Given the description of an element on the screen output the (x, y) to click on. 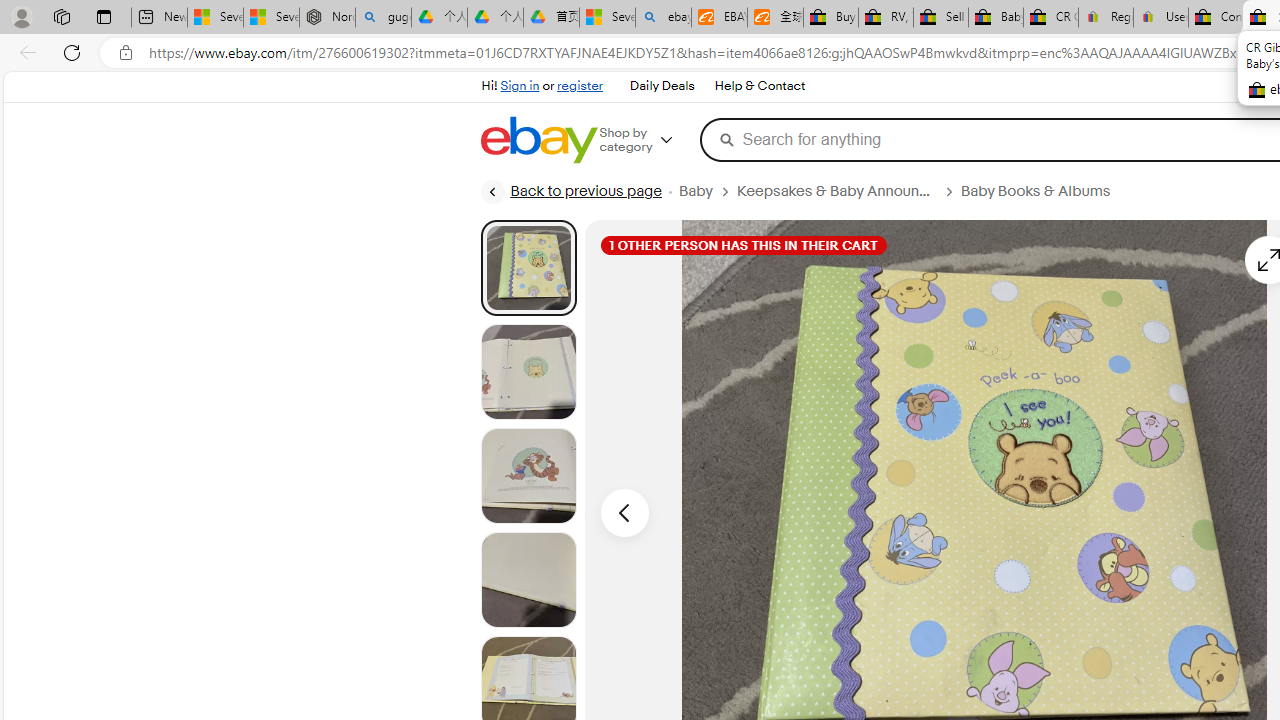
View site information (125, 53)
New tab (158, 17)
Buy Auto Parts & Accessories | eBay (830, 17)
